Given the description of an element on the screen output the (x, y) to click on. 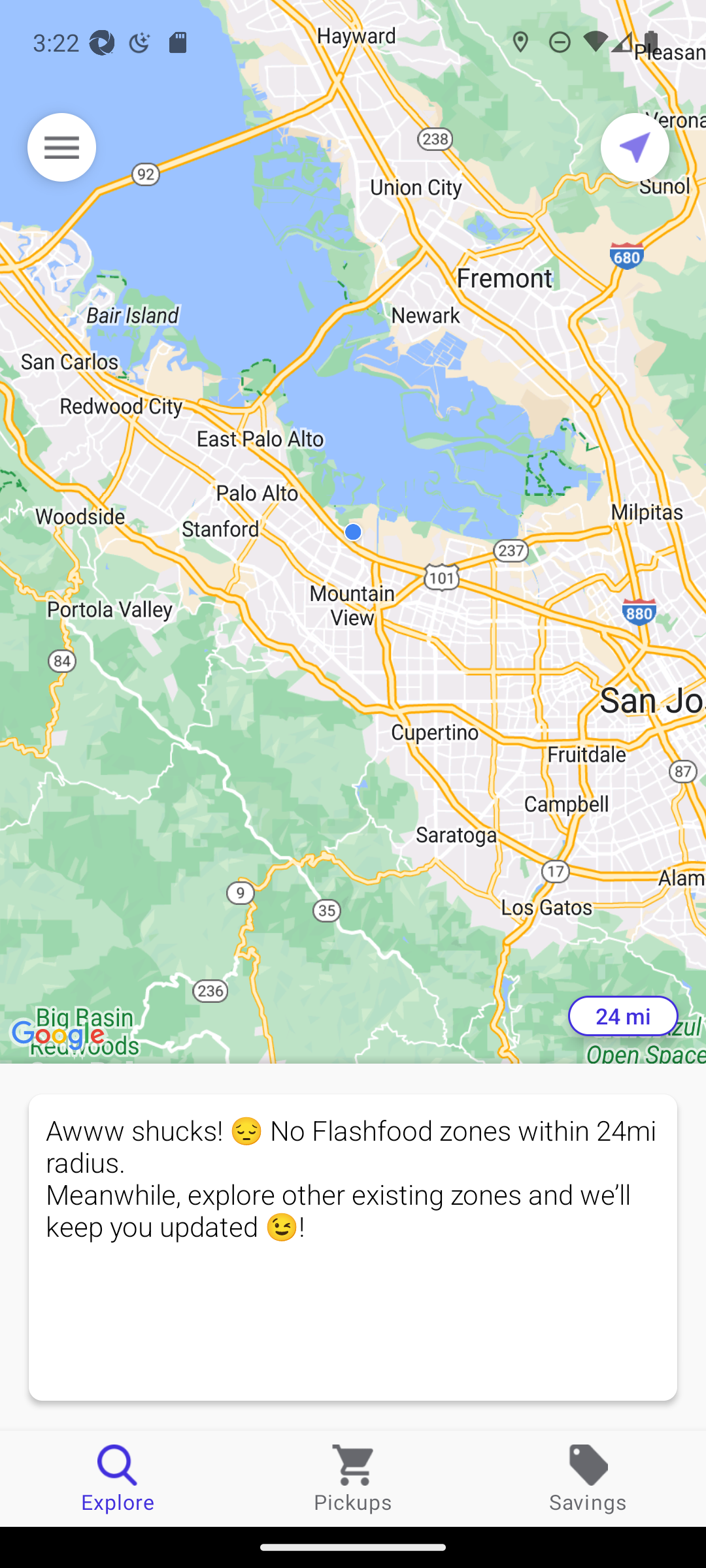
Menu (61, 146)
Current location (634, 146)
24 mi (623, 1015)
Pickups (352, 1478)
Savings (588, 1478)
